Given the description of an element on the screen output the (x, y) to click on. 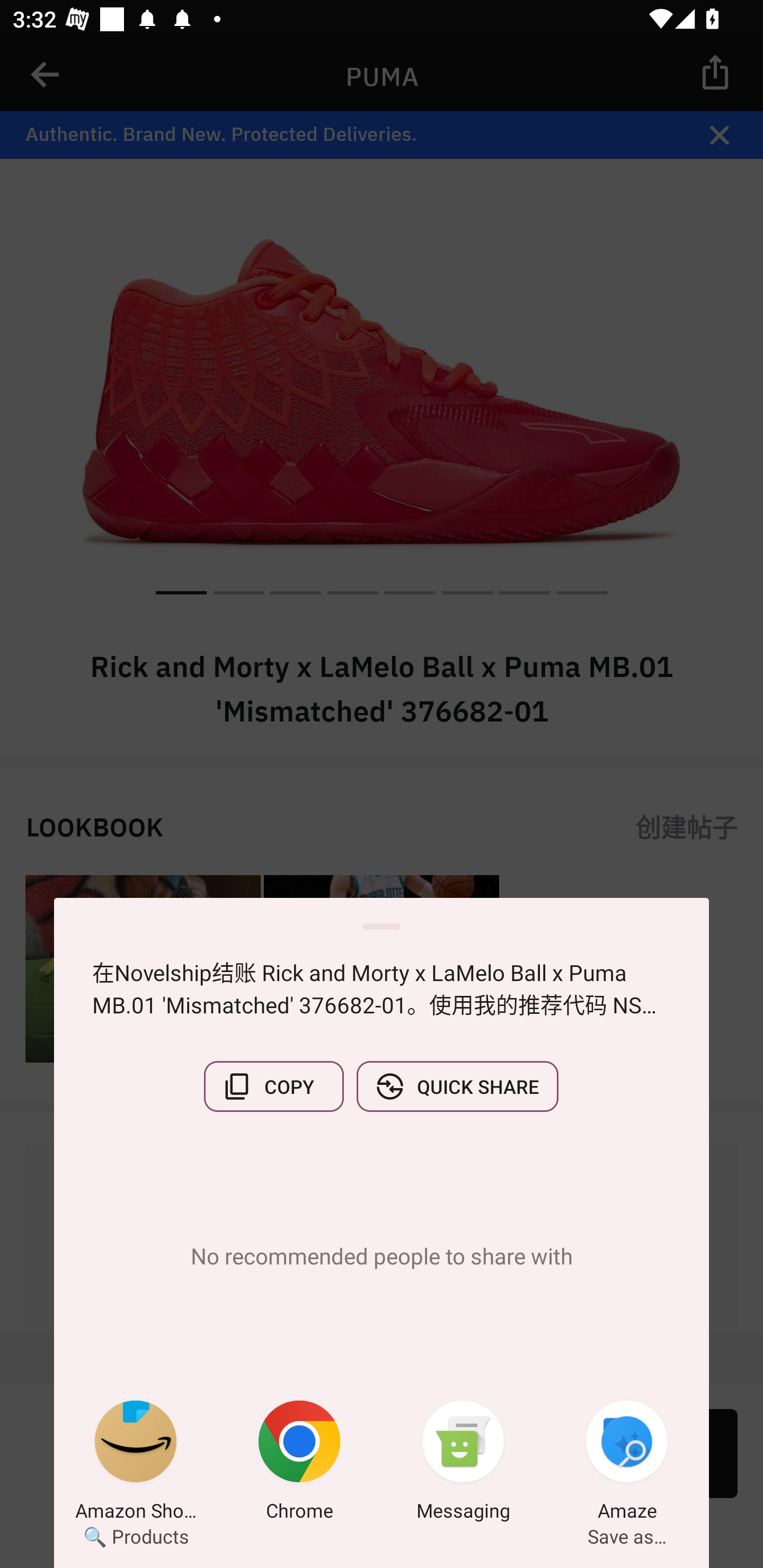
COPY (273, 1086)
QUICK SHARE (457, 1086)
Amazon Shopping 🔍 Products (135, 1463)
Chrome (299, 1463)
Messaging (463, 1463)
Amaze Save as… (626, 1463)
